Given the description of an element on the screen output the (x, y) to click on. 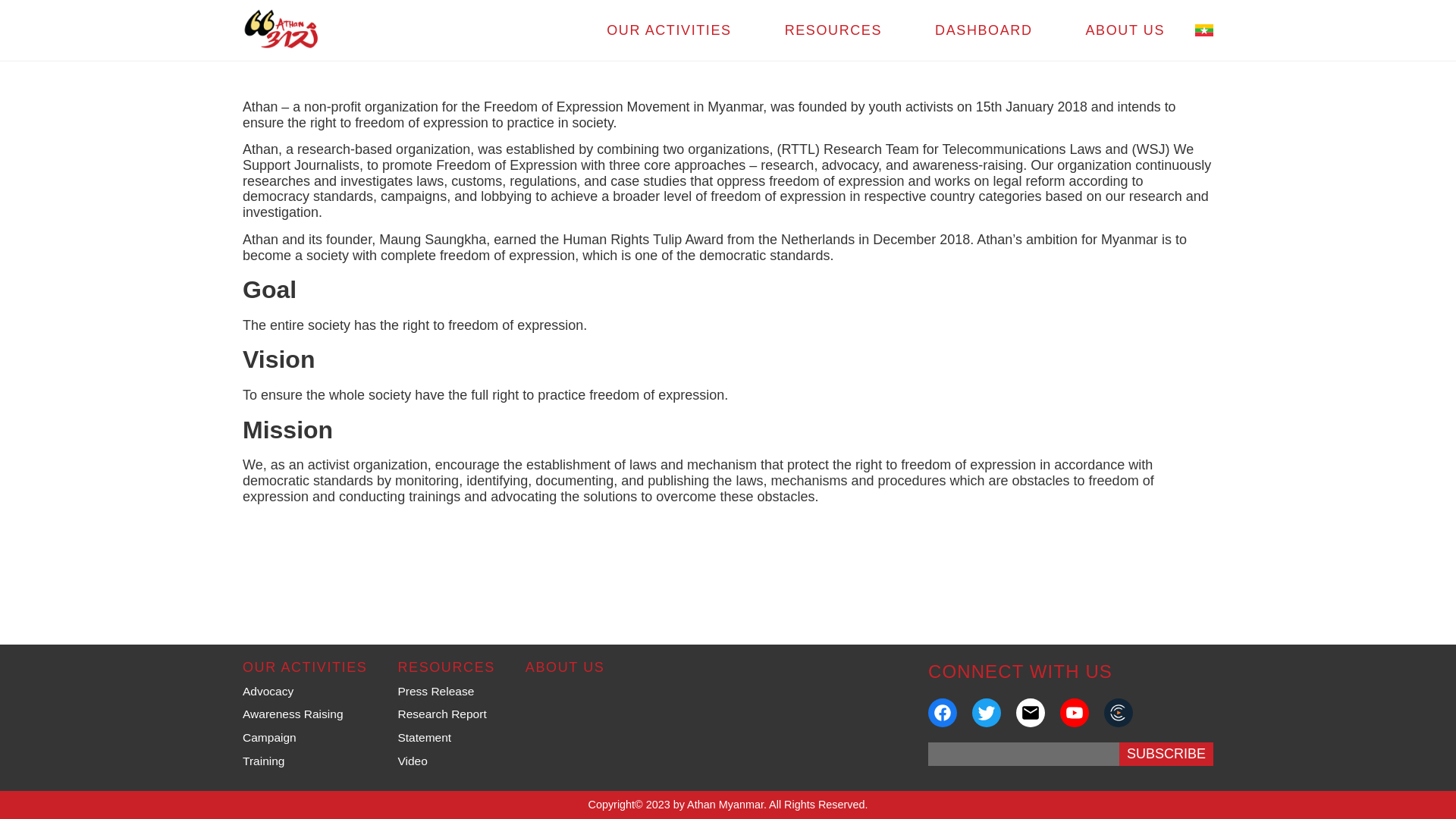
OUR ACTIVITIES (668, 30)
Press Release (435, 690)
Research Report (441, 713)
ABOUT US (565, 667)
twitter (985, 712)
RESOURCES (833, 30)
ABOUT US (1125, 30)
Awareness Raising (293, 713)
OUR ACTIVITIES (304, 667)
DASHBOARD (983, 30)
